Given the description of an element on the screen output the (x, y) to click on. 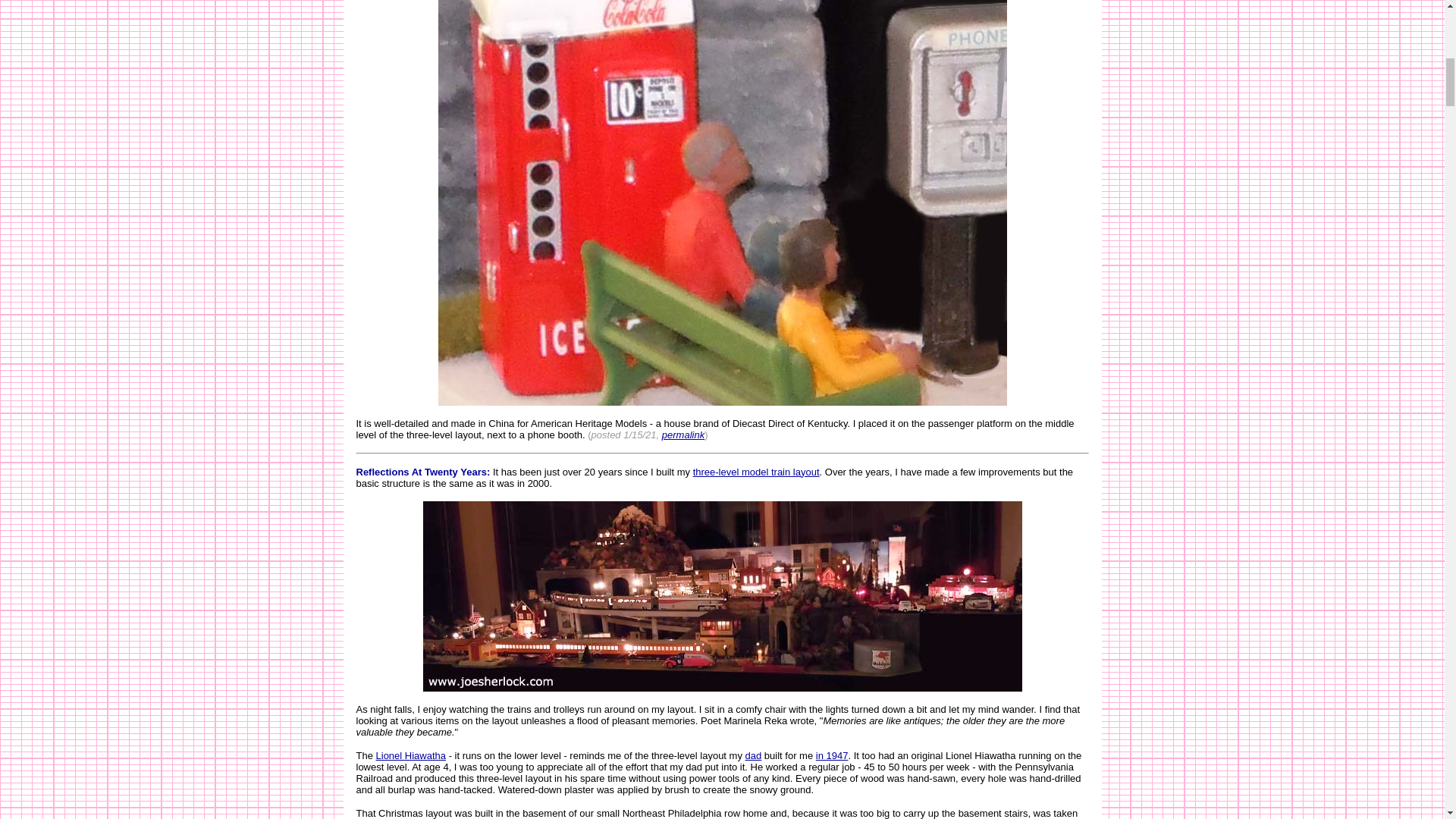
Lionel Hiawatha (410, 754)
dad (753, 754)
in 1947 (831, 754)
three-level model train layout (756, 471)
permalink (683, 434)
